Given the description of an element on the screen output the (x, y) to click on. 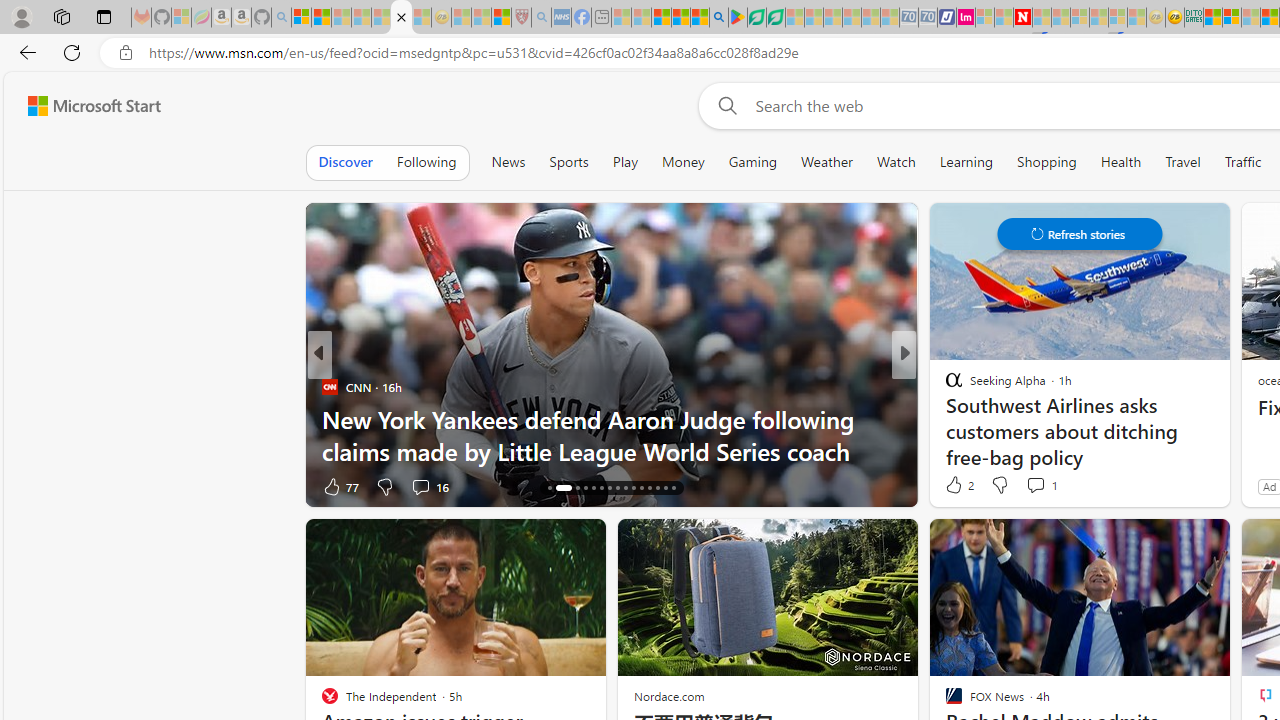
HowToGeek (944, 386)
AutomationID: tab-16 (549, 487)
Nordace.com (669, 696)
View comments 31 Comment (1051, 486)
Allrecipes (944, 386)
Microsoft Word - consumer-privacy address update 2.2021 (775, 17)
310 Like (959, 486)
71 Like (956, 486)
